Given the description of an element on the screen output the (x, y) to click on. 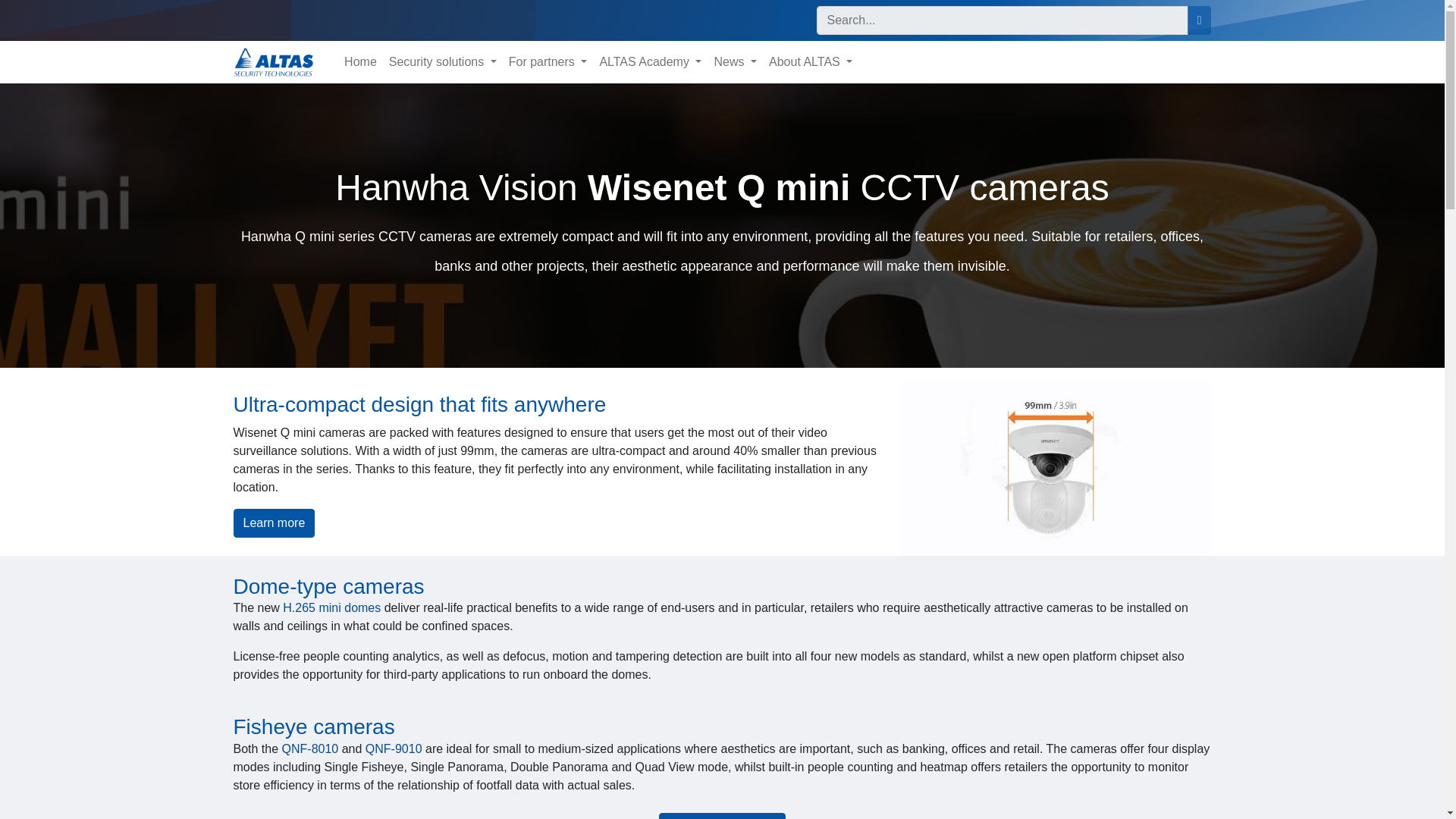
Learn more (273, 522)
ALTAS IT (273, 61)
Security solutions (442, 61)
News (734, 61)
QNF-8010 (310, 748)
For partners (548, 61)
Search (1199, 20)
Home (359, 61)
About ALTAS (810, 61)
H.265 mini domes (331, 607)
ALTAS Academy (649, 61)
QNF-9010 (393, 748)
